Given the description of an element on the screen output the (x, y) to click on. 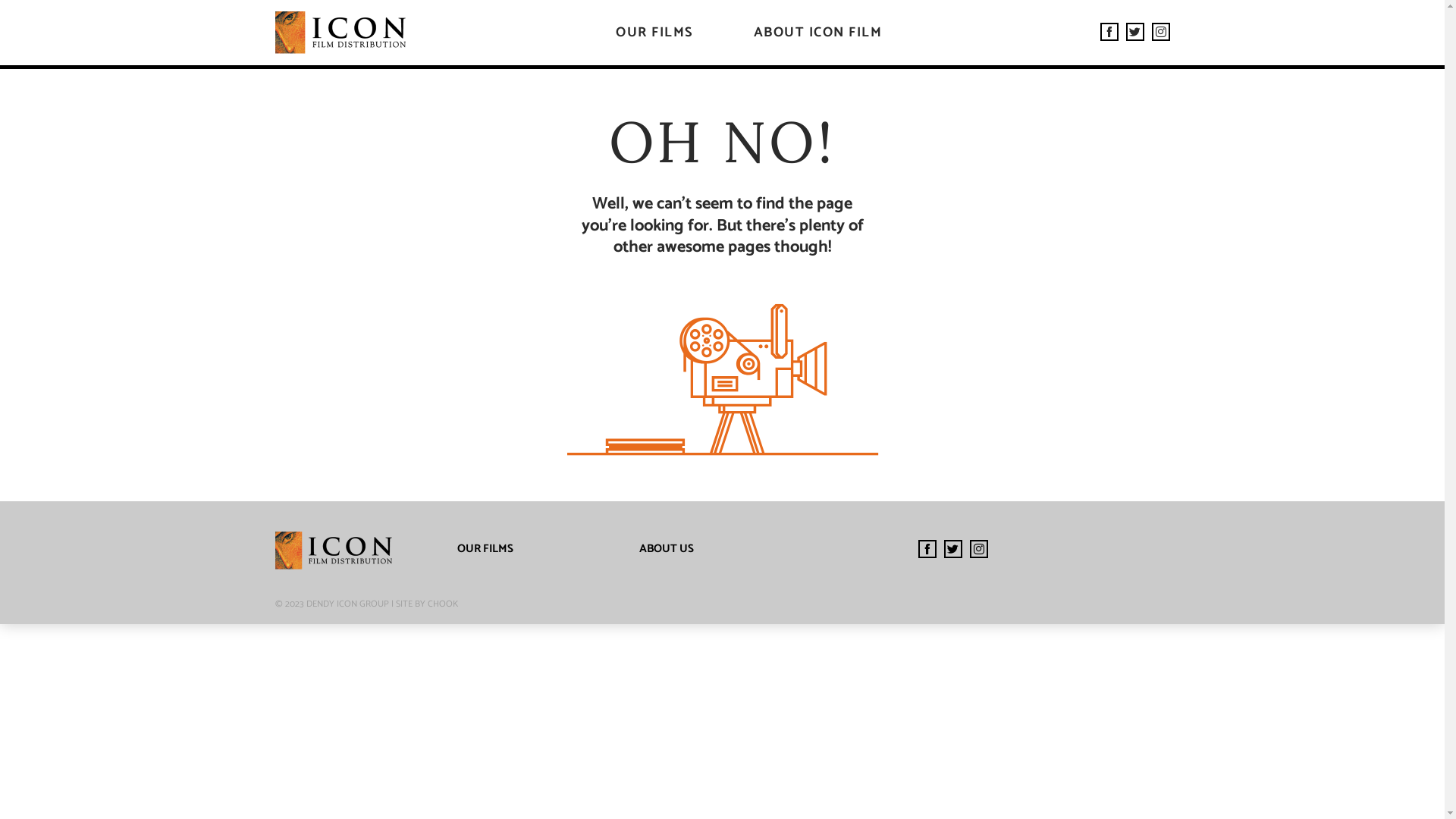
FACEBOOK Element type: text (926, 548)
ABOUT ICON FILM Element type: text (817, 32)
ABOUT US Element type: text (665, 548)
CHOOK Element type: text (442, 603)
OUR FILMS Element type: text (484, 548)
TWITTER Element type: text (1134, 31)
FACEBOOK Element type: text (1108, 31)
INSTAGRAM Element type: text (978, 548)
TWITTER Element type: text (952, 548)
INSTAGRAM Element type: text (1160, 31)
OUR FILMS Element type: text (654, 32)
